Given the description of an element on the screen output the (x, y) to click on. 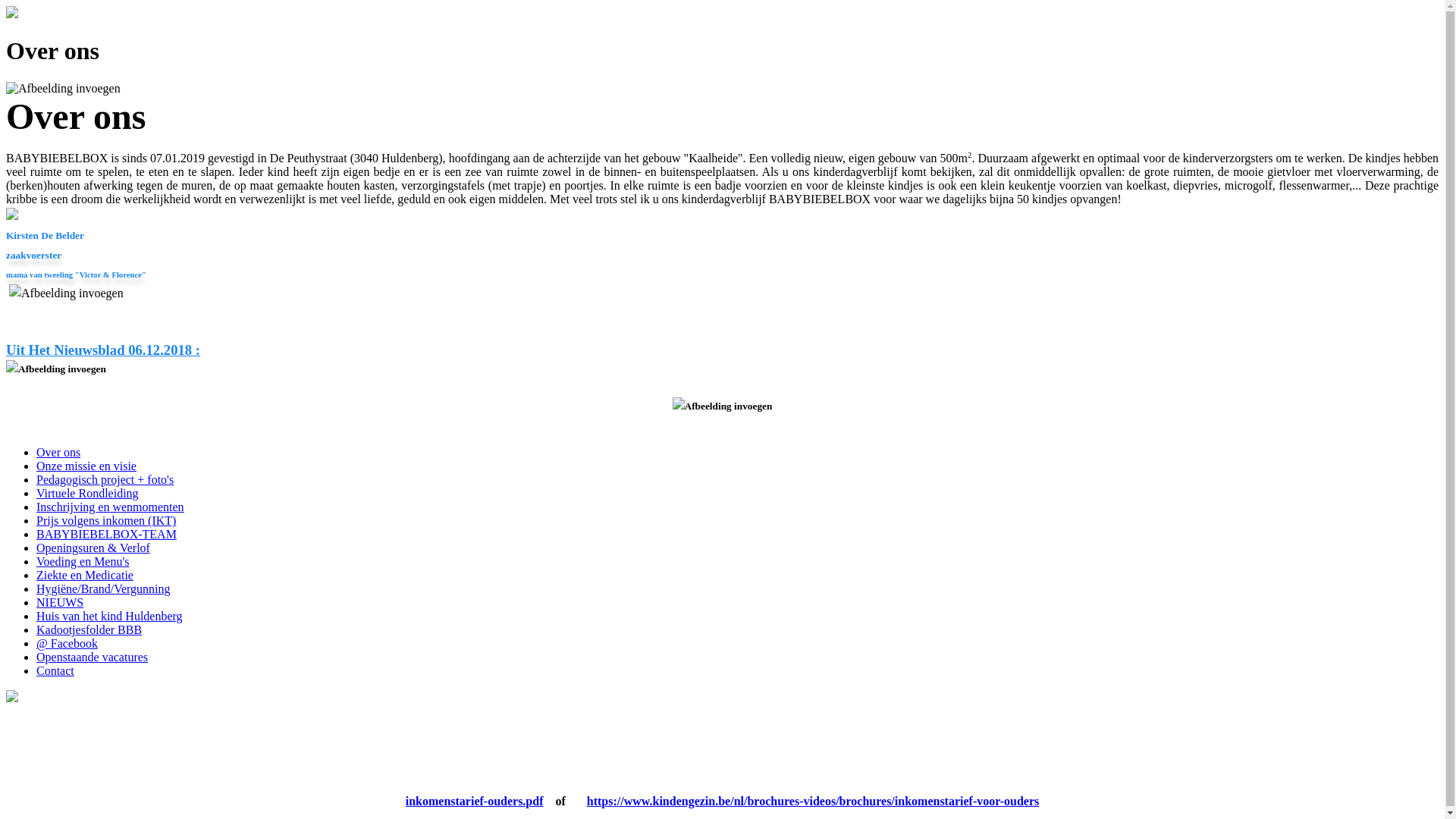
Huis van het kind Huldenberg Element type: text (109, 615)
@ Facebook Element type: text (66, 643)
Virtuele Rondleiding Element type: text (87, 492)
Openstaande vacatures Element type: text (91, 656)
Voeding en Menu's Element type: text (82, 561)
Pedagogisch project + foto's Element type: text (104, 479)
Kadootjesfolder BBB Element type: text (88, 629)
Contact Element type: text (55, 670)
BABYBIEBELBOX-TEAM Element type: text (106, 533)
Ziekte en Medicatie Element type: text (84, 574)
Prijs volgens inkomen (IKT) Element type: text (105, 520)
inkomenstarief-ouders.pdf Element type: text (474, 800)
NIEUWS Element type: text (59, 602)
Inschrijving en wenmomenten Element type: text (110, 506)
Onze missie en visie Element type: text (86, 465)
Openingsuren & Verlof Element type: text (93, 547)
Over ons Element type: text (58, 451)
